Given the description of an element on the screen output the (x, y) to click on. 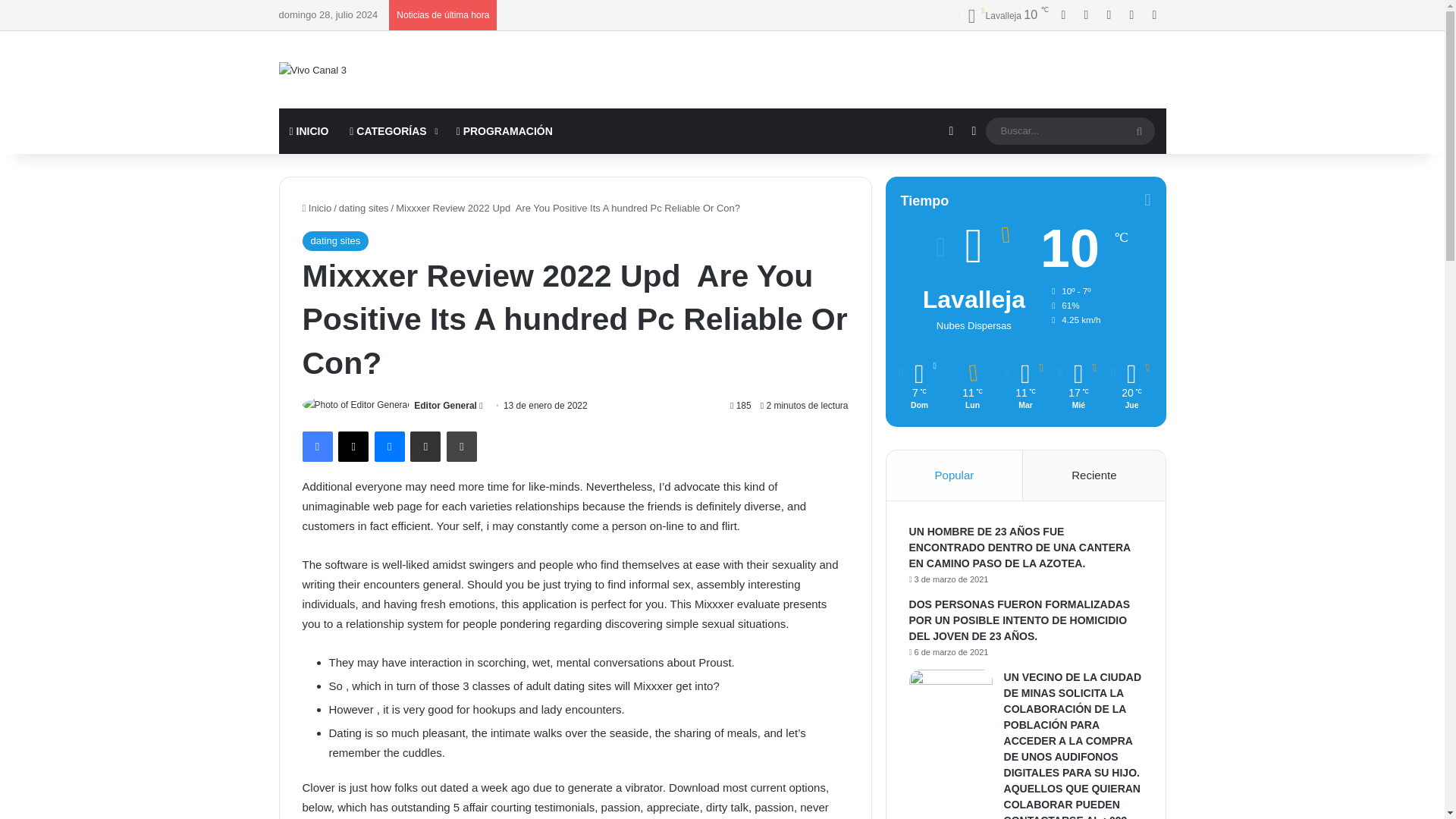
Buscar... (1069, 130)
Editor General (445, 405)
Nubes Dispersas (1003, 15)
Facebook (316, 446)
Facebook (1063, 15)
Messenger (389, 446)
Inicio (316, 207)
Instagram (1131, 15)
Switch skin (973, 130)
Vivo Canal 3 (312, 69)
X (352, 446)
dating sites (334, 240)
INICIO (309, 130)
Imprimir (461, 446)
